Given the description of an element on the screen output the (x, y) to click on. 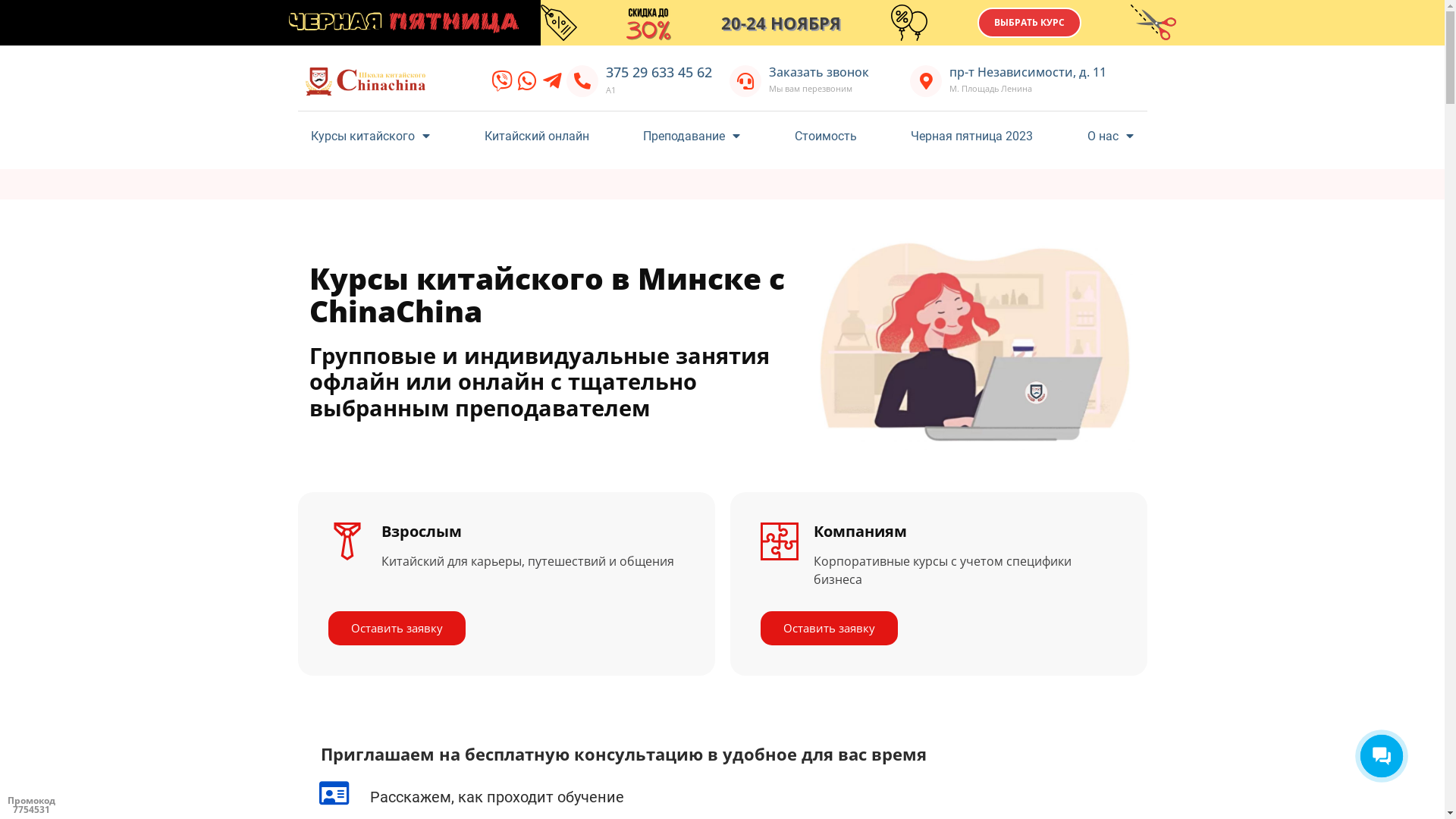
375 29 633 45 62 Element type: text (658, 71)
